Given the description of an element on the screen output the (x, y) to click on. 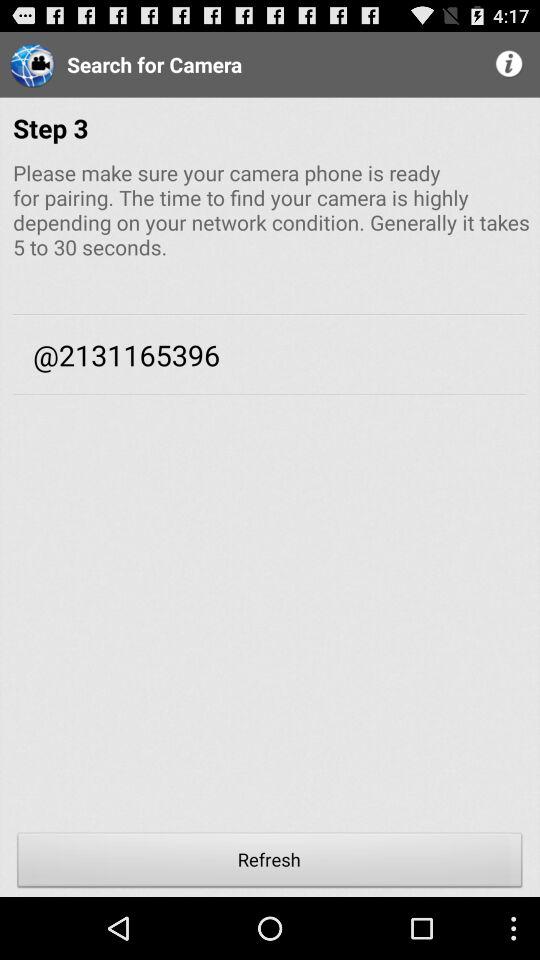
open icon at the top right corner (509, 63)
